Given the description of an element on the screen output the (x, y) to click on. 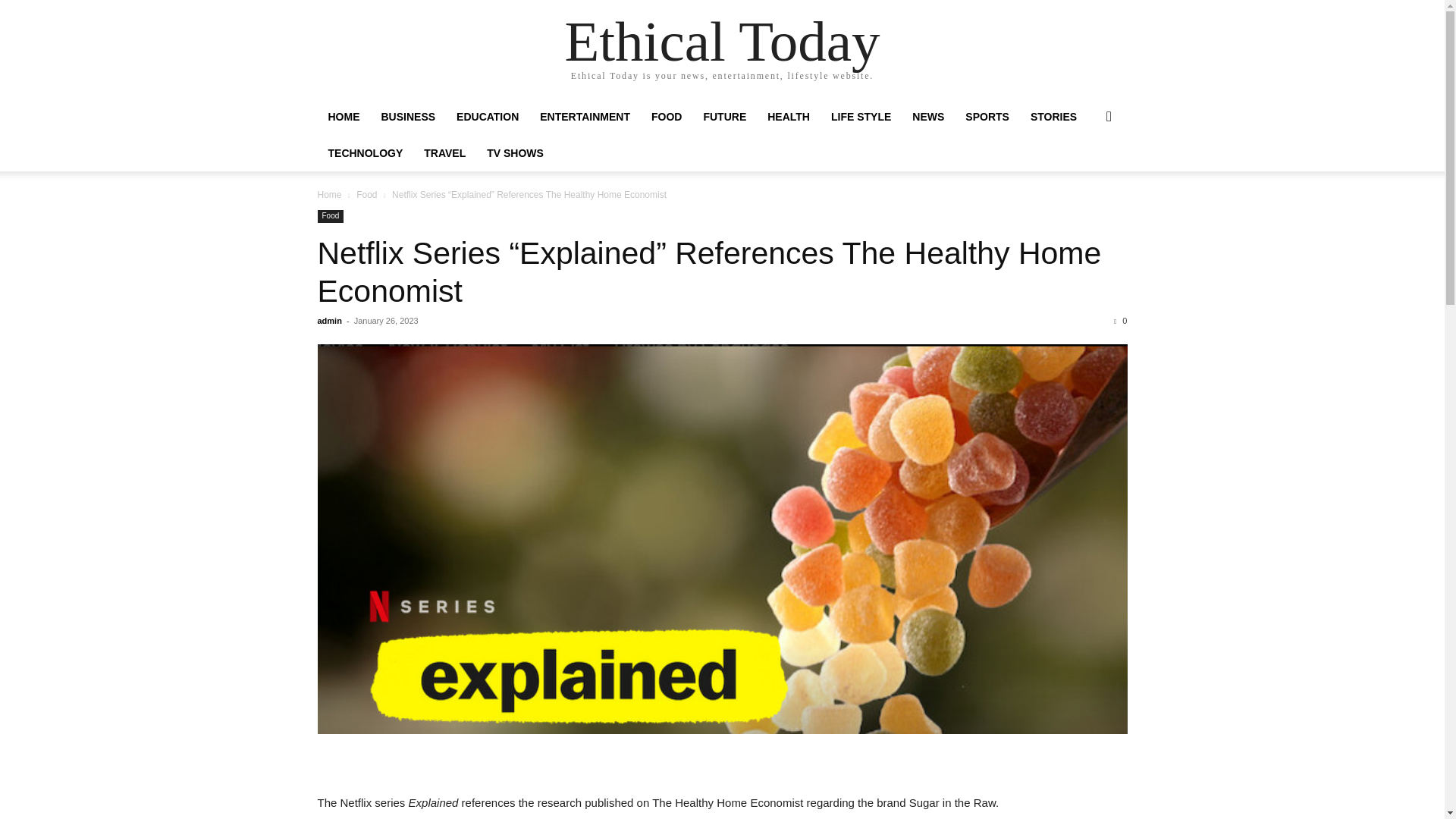
Search (1085, 177)
STORIES (1053, 116)
SPORTS (987, 116)
EDUCATION (487, 116)
Food (330, 215)
admin (328, 320)
NEWS (928, 116)
Food (366, 194)
TV SHOWS (515, 152)
FUTURE (725, 116)
Home (328, 194)
ENTERTAINMENT (584, 116)
HOME (343, 116)
View all posts in Food (366, 194)
LIFE STYLE (861, 116)
